Given the description of an element on the screen output the (x, y) to click on. 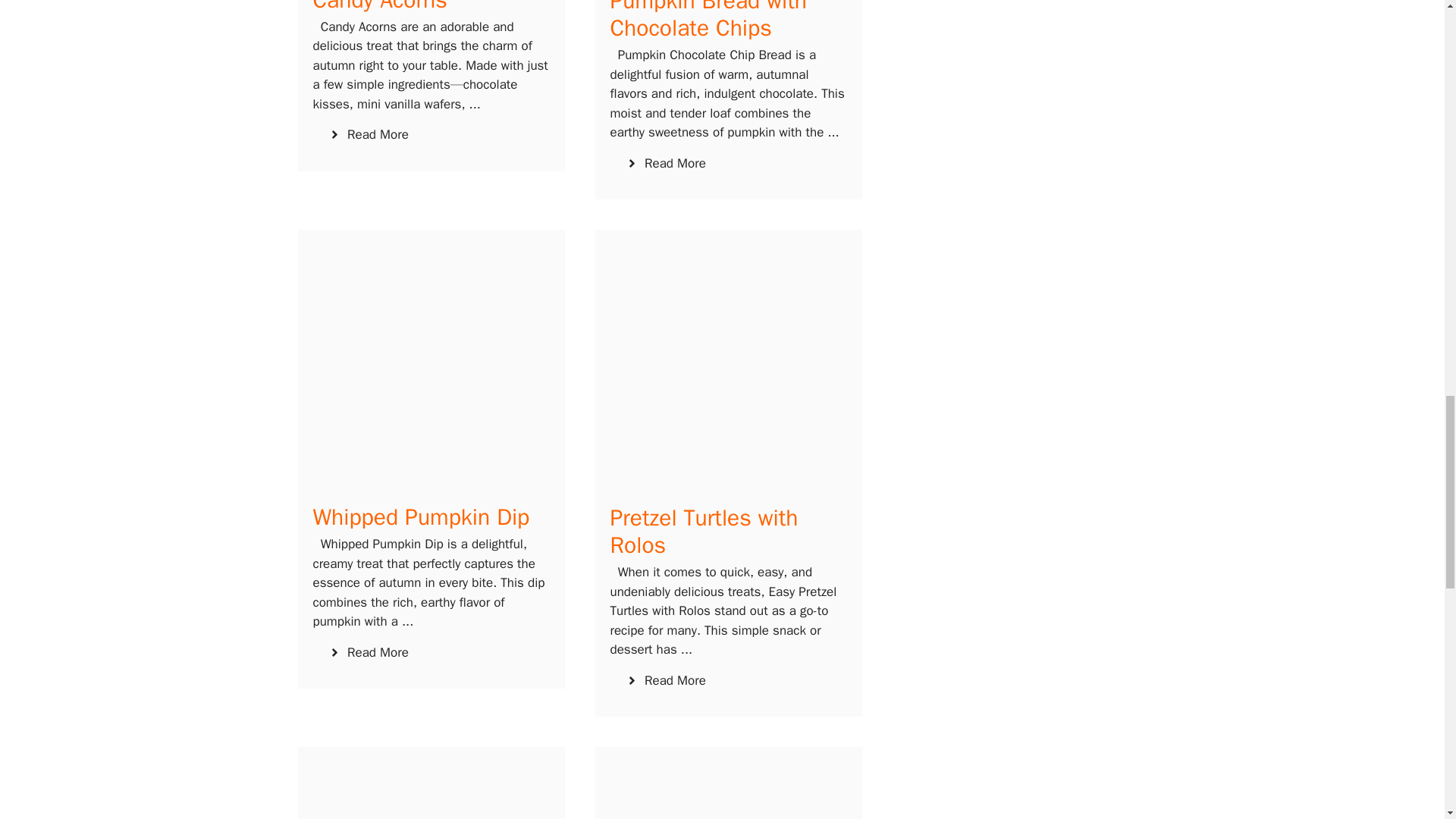
Read More (368, 652)
Read More (665, 163)
Candy Acorns (379, 7)
Read More (665, 680)
Pumpkin Bread with Chocolate Chips (708, 21)
Pretzel Turtles with Rolos (703, 531)
Read More (368, 134)
Whipped Pumpkin Dip (421, 516)
